Given the description of an element on the screen output the (x, y) to click on. 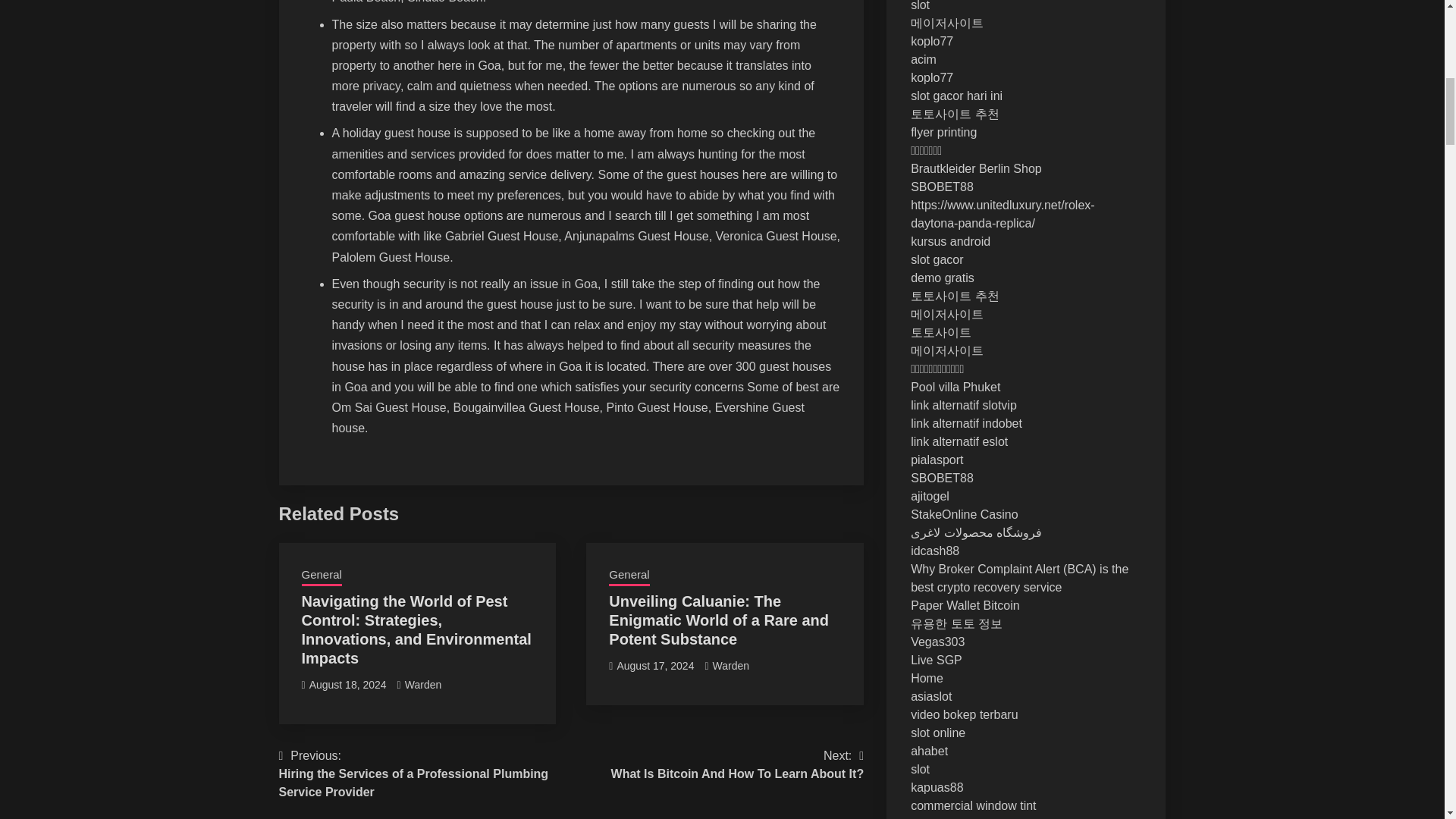
Warden (731, 665)
Warden (423, 684)
General (321, 576)
General (628, 576)
August 17, 2024 (654, 665)
August 18, 2024 (737, 764)
